Given the description of an element on the screen output the (x, y) to click on. 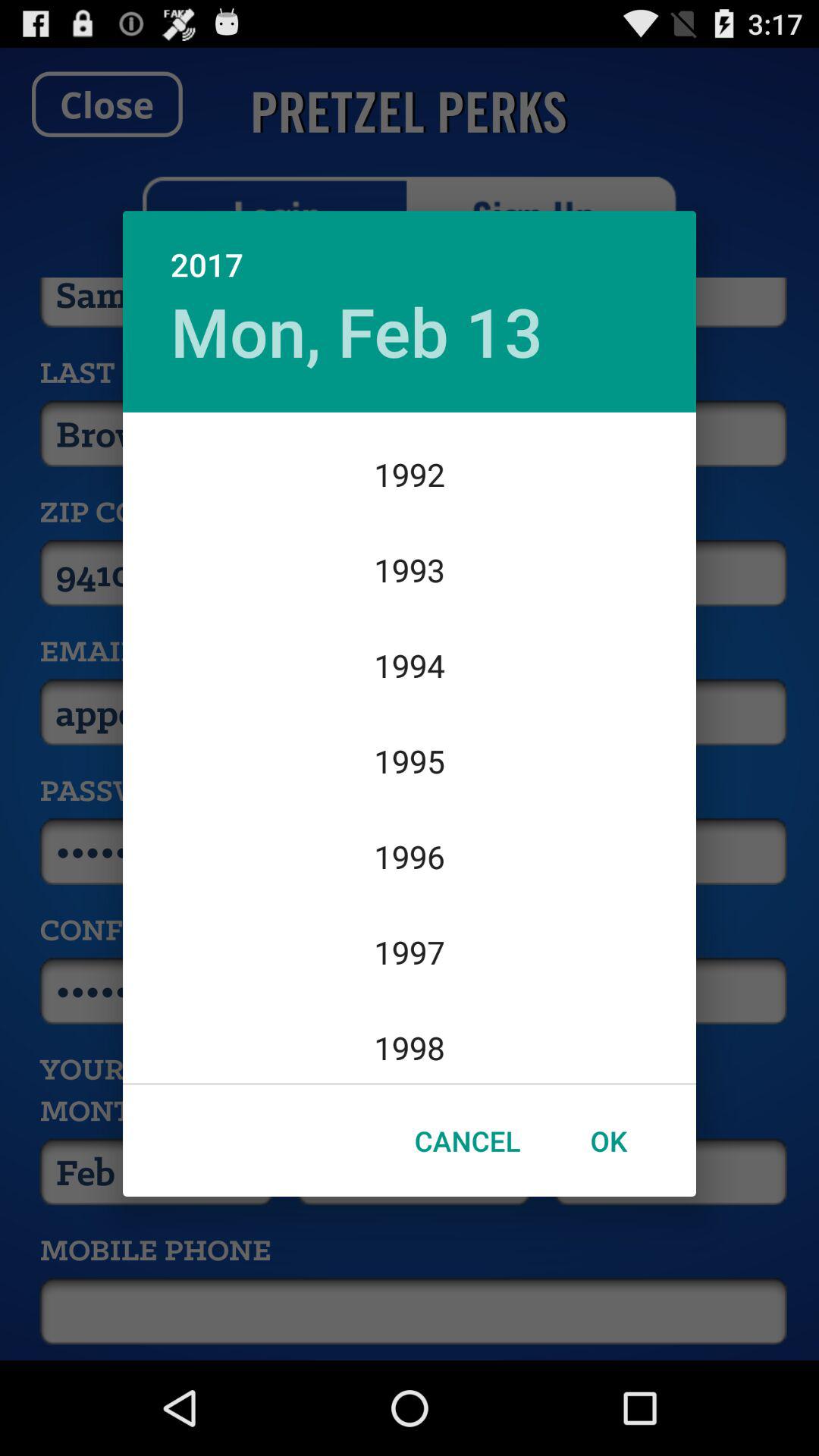
turn on the item above 1991 icon (356, 331)
